Given the description of an element on the screen output the (x, y) to click on. 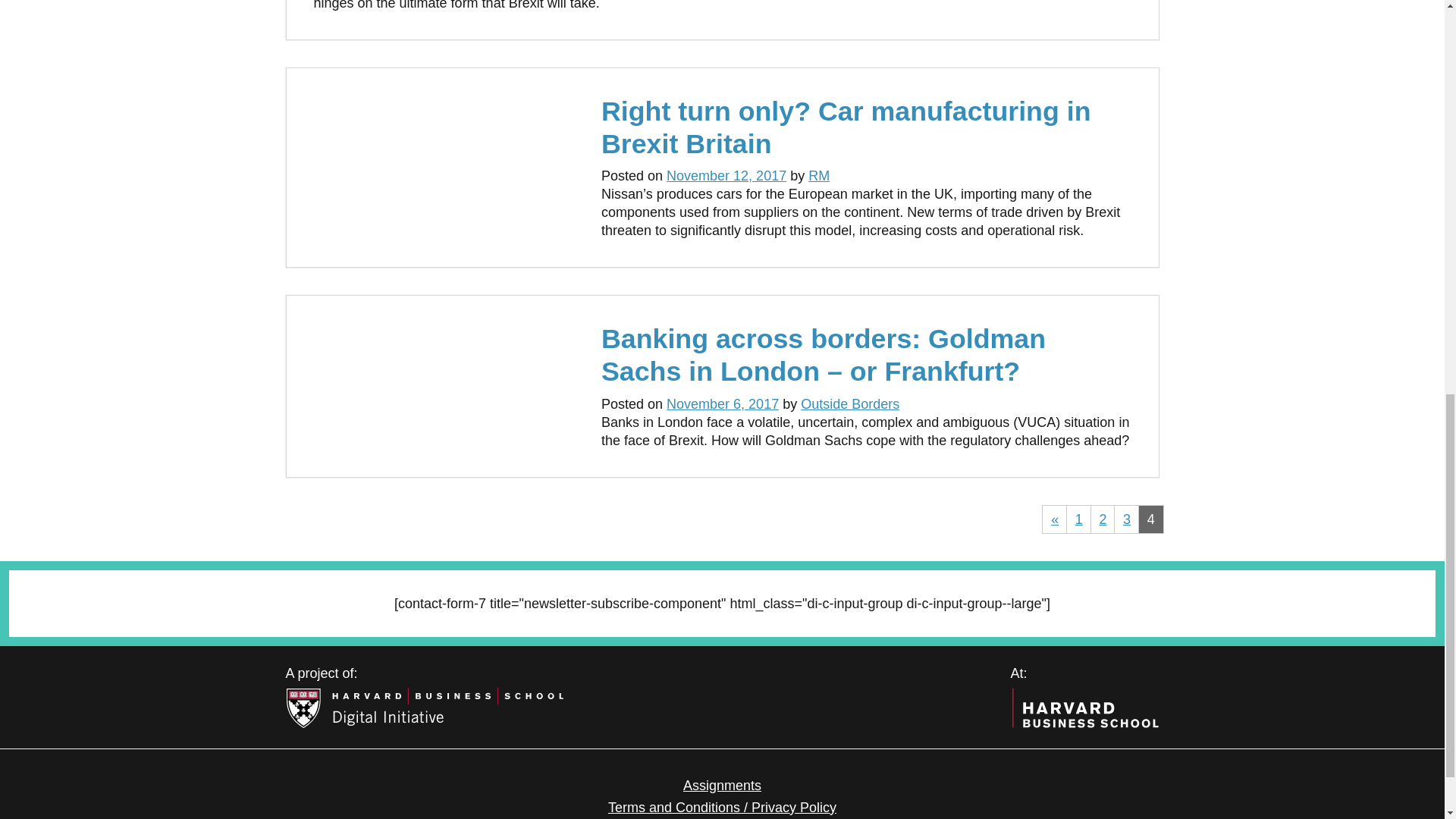
Assignments (721, 785)
Right turn only? Car manufacturing in Brexit Britain (845, 127)
November 12, 2017 (726, 175)
RM (818, 175)
November 6, 2017 (722, 403)
Outside Borders (849, 403)
